Given the description of an element on the screen output the (x, y) to click on. 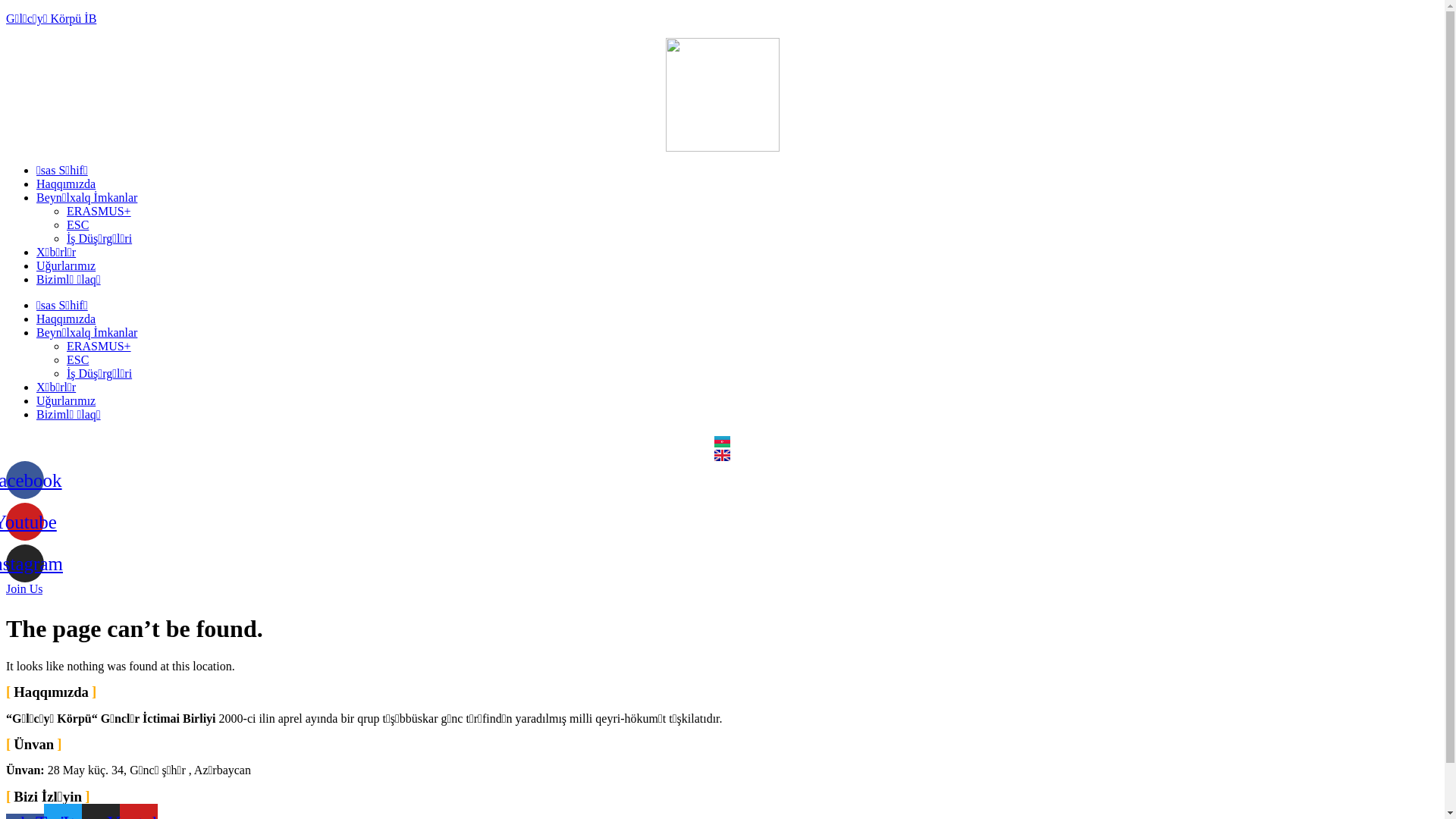
ERASMUS+ Element type: text (98, 210)
Join Us Element type: text (24, 589)
ERASMUS+ Element type: text (98, 345)
ESC Element type: text (77, 359)
ESC Element type: text (77, 224)
Youtube Element type: text (24, 521)
Instagram Element type: text (24, 563)
Facebook Element type: text (24, 479)
